Given the description of an element on the screen output the (x, y) to click on. 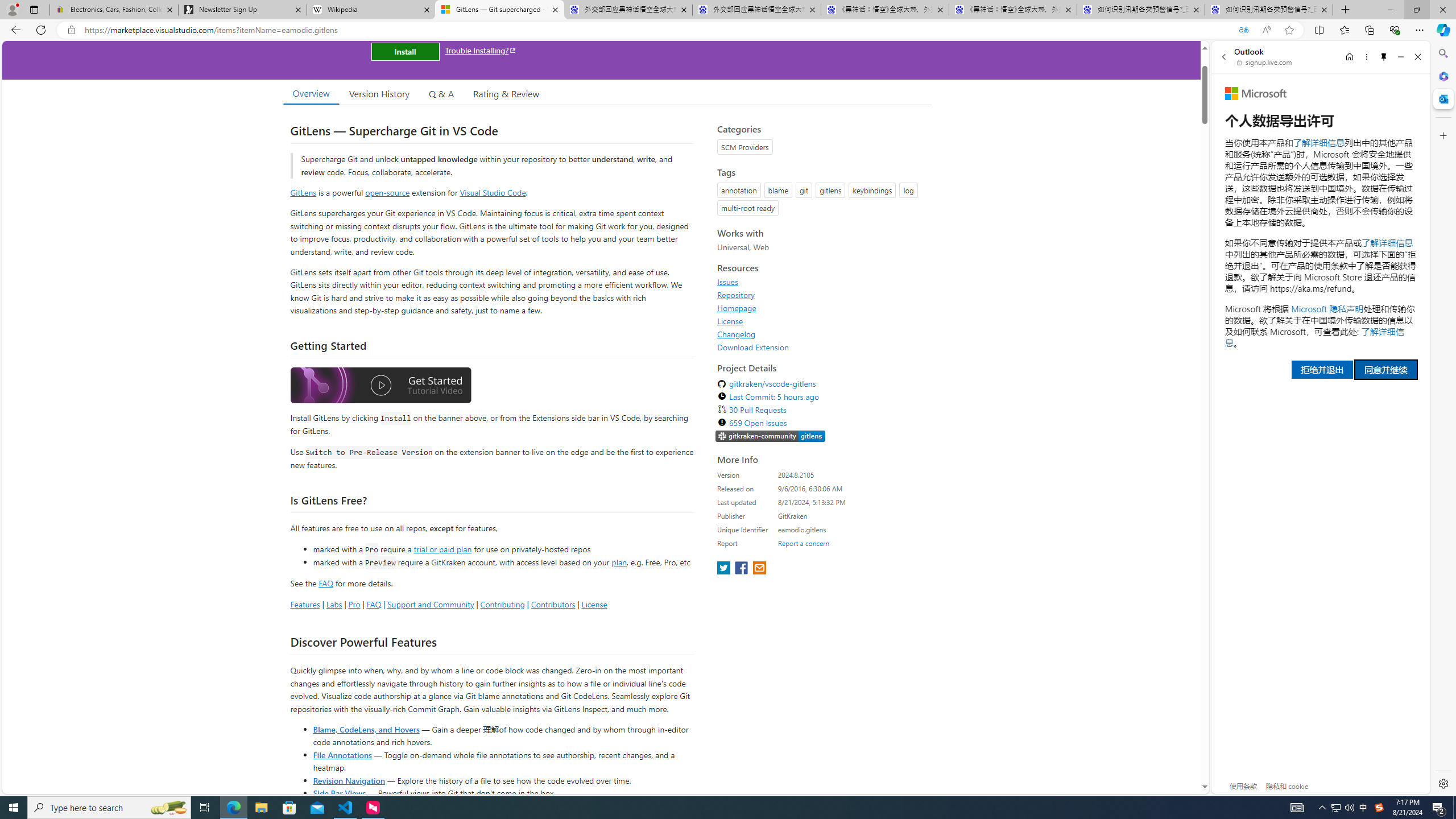
Watch the GitLens Getting Started video (380, 387)
Changelog (820, 333)
Newsletter Sign Up (242, 9)
share extension on email (759, 568)
